Given the description of an element on the screen output the (x, y) to click on. 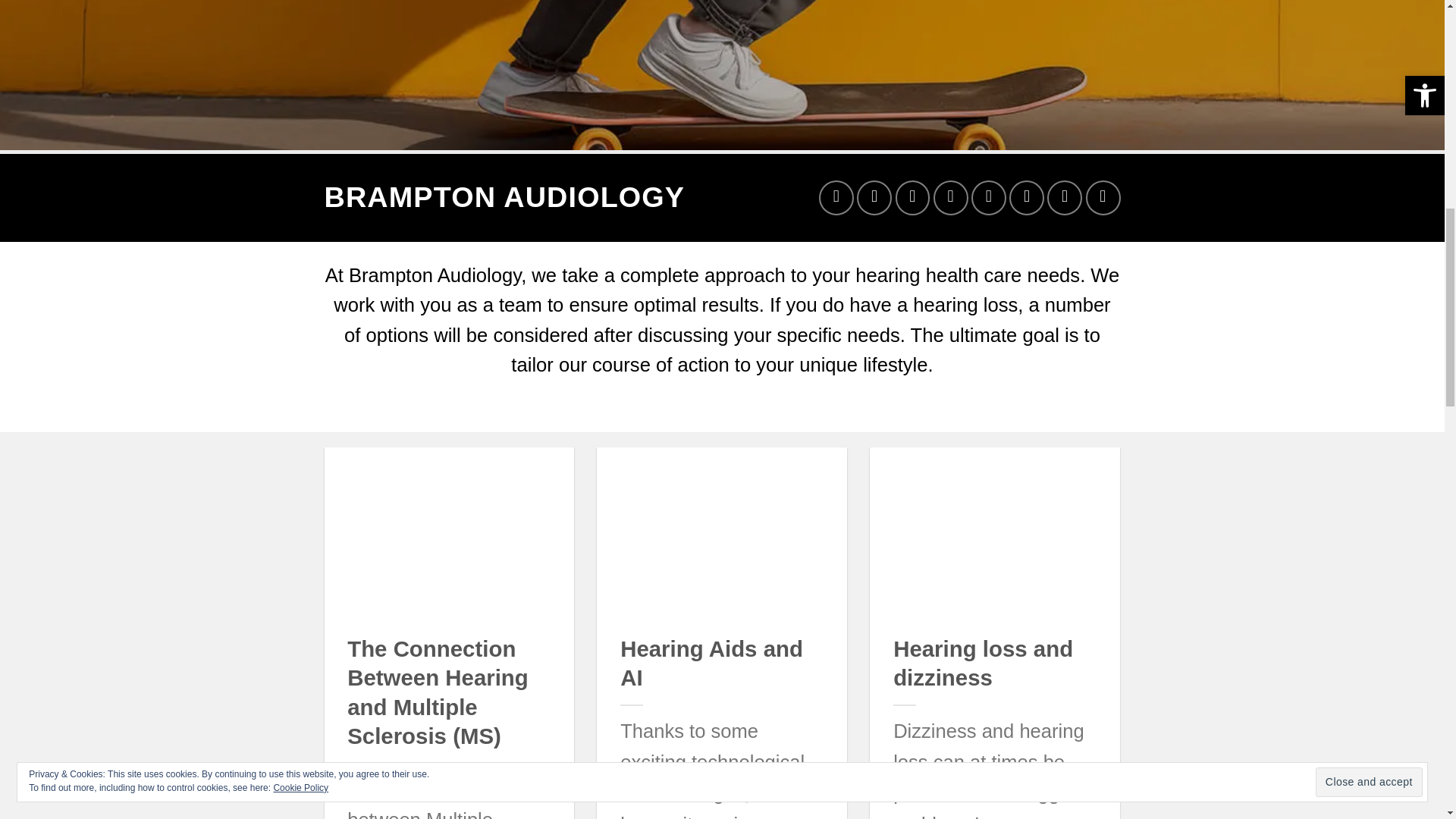
Share on X (874, 197)
Email to a Friend (988, 197)
Share on LinkedIn (1063, 197)
Share on Twitter (912, 197)
Share on Threads (950, 197)
Share on Facebook (835, 197)
Share on Tumblr (1103, 197)
Pin on Pinterest (1026, 197)
